Given the description of an element on the screen output the (x, y) to click on. 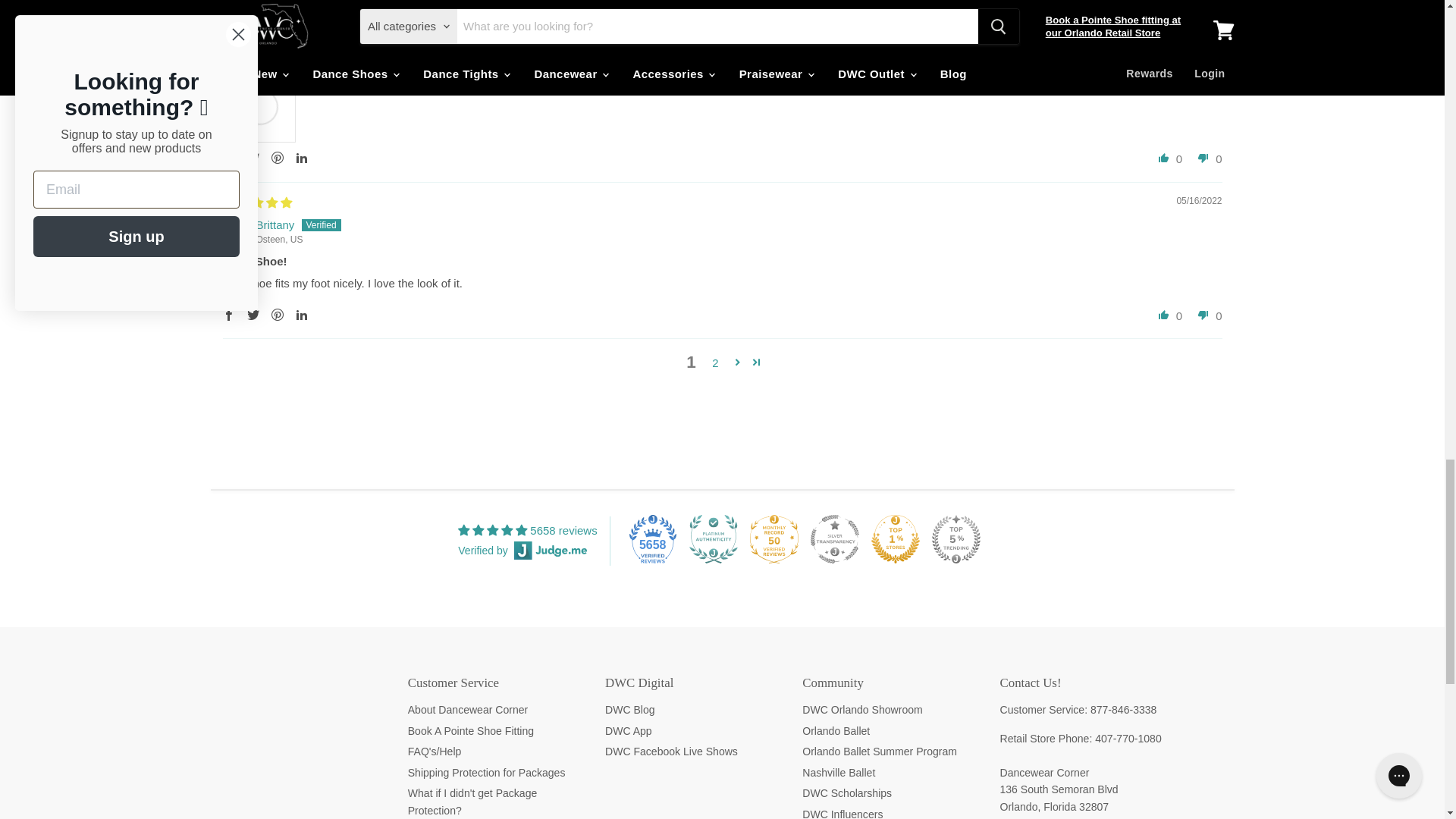
Facebook (228, 157)
LinkedIn (301, 157)
Twitter (252, 157)
Pinterest (276, 157)
